Given the description of an element on the screen output the (x, y) to click on. 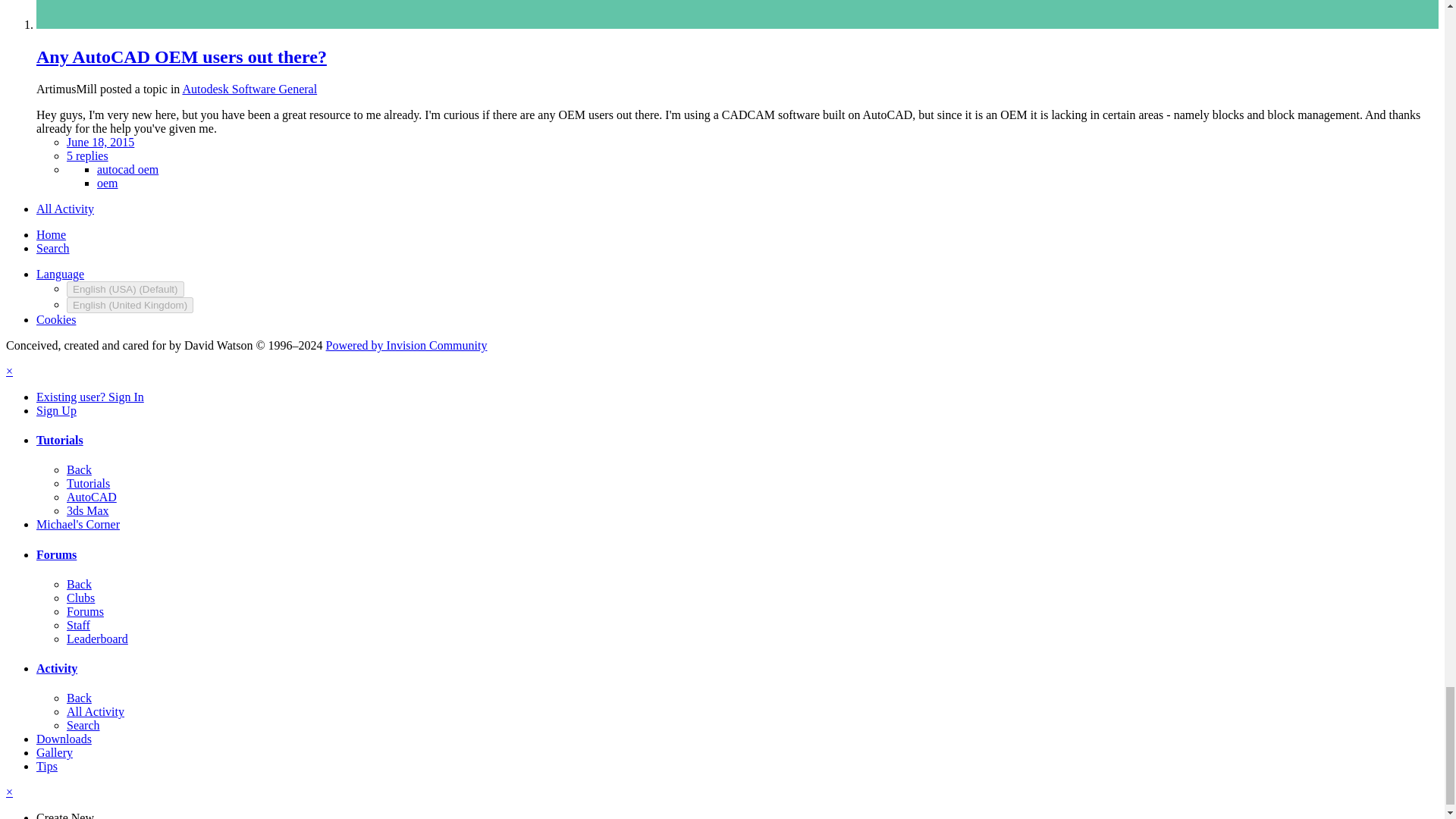
Find other content tagged with 'autocad oem' (127, 169)
Find other content tagged with 'oem' (107, 182)
Home (50, 234)
Invision Community (406, 345)
